Given the description of an element on the screen output the (x, y) to click on. 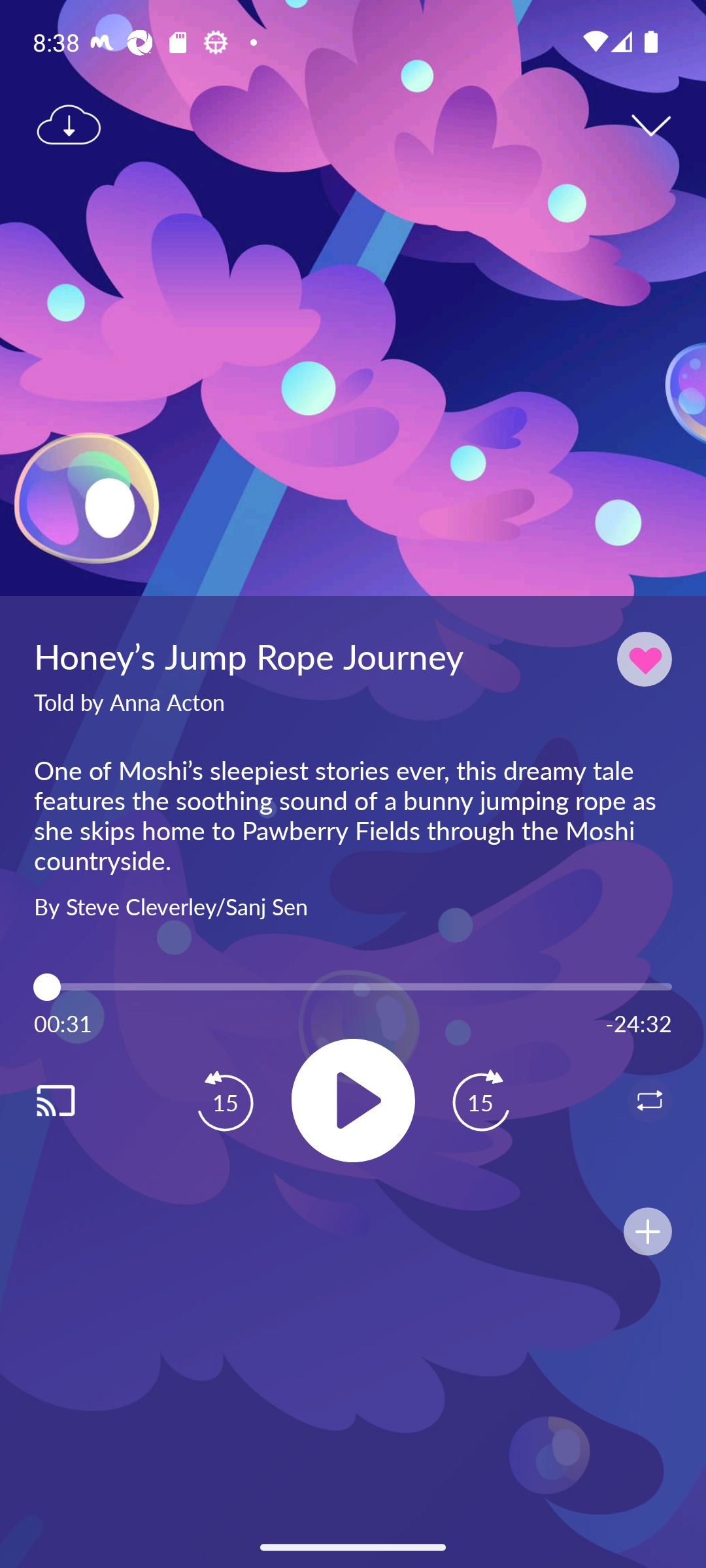
31.0 (352, 986)
Cast. Disconnected (76, 1100)
